Given the description of an element on the screen output the (x, y) to click on. 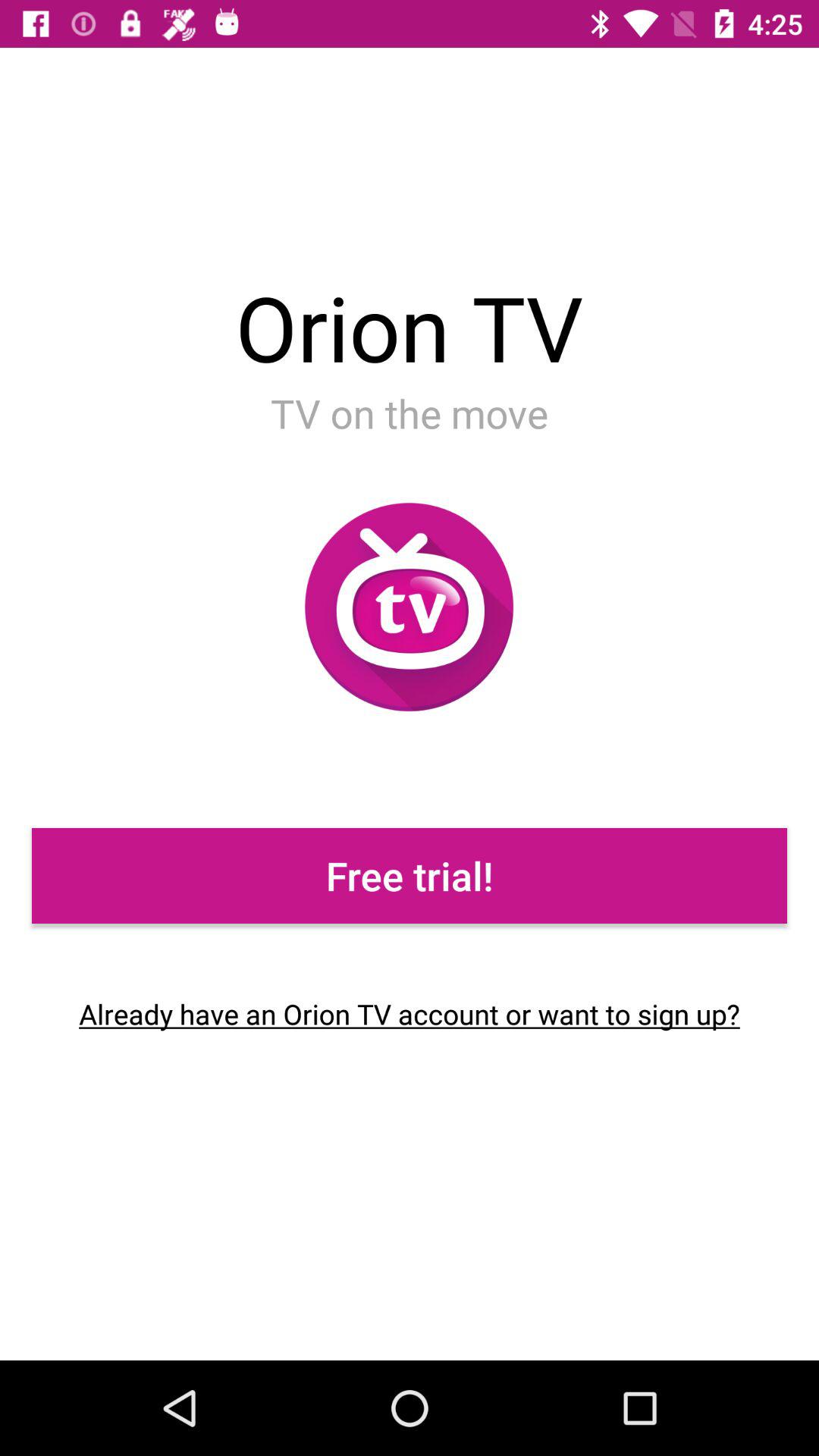
flip to the free trial! icon (409, 875)
